Given the description of an element on the screen output the (x, y) to click on. 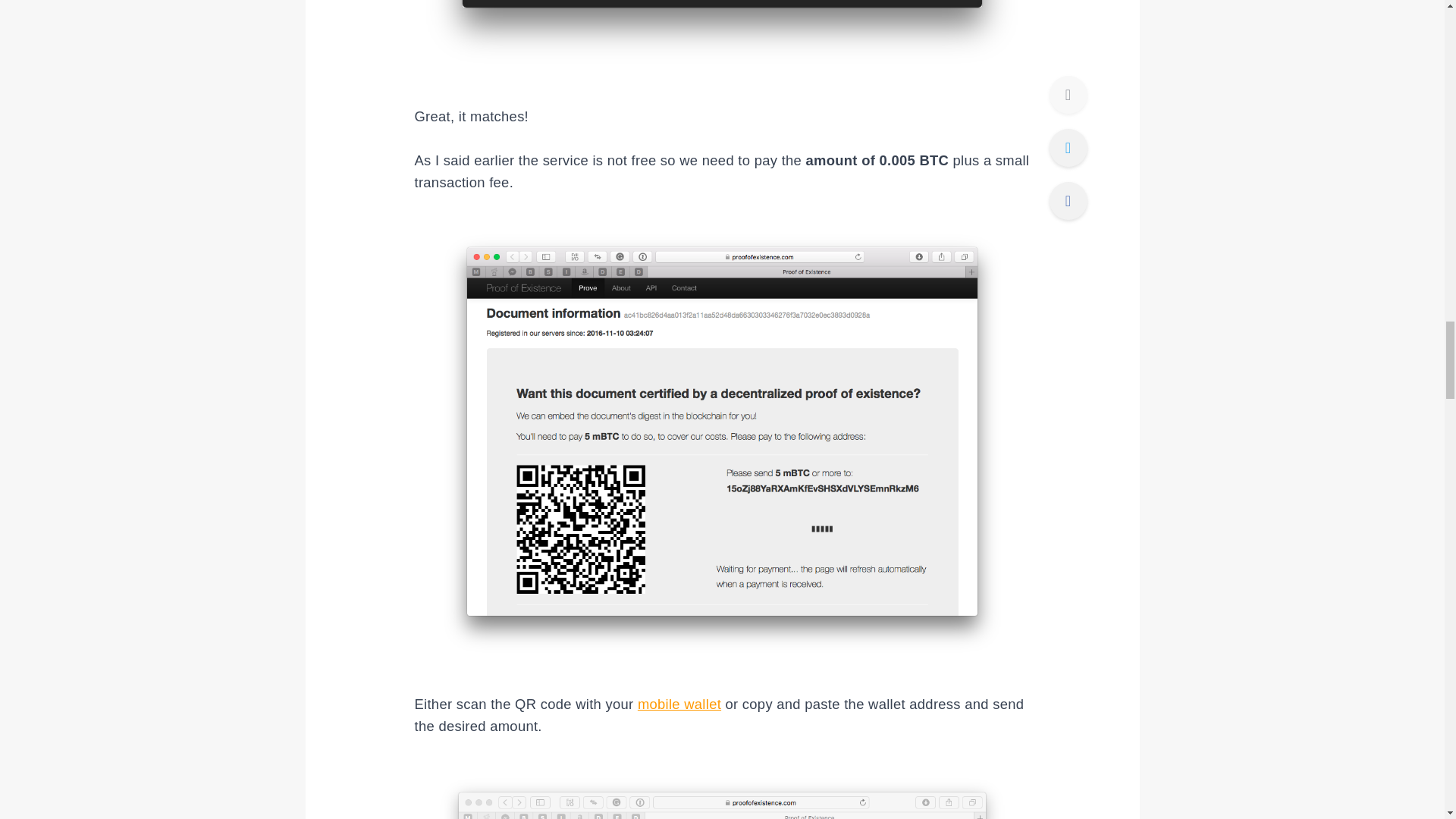
mobile wallet (678, 703)
